Given the description of an element on the screen output the (x, y) to click on. 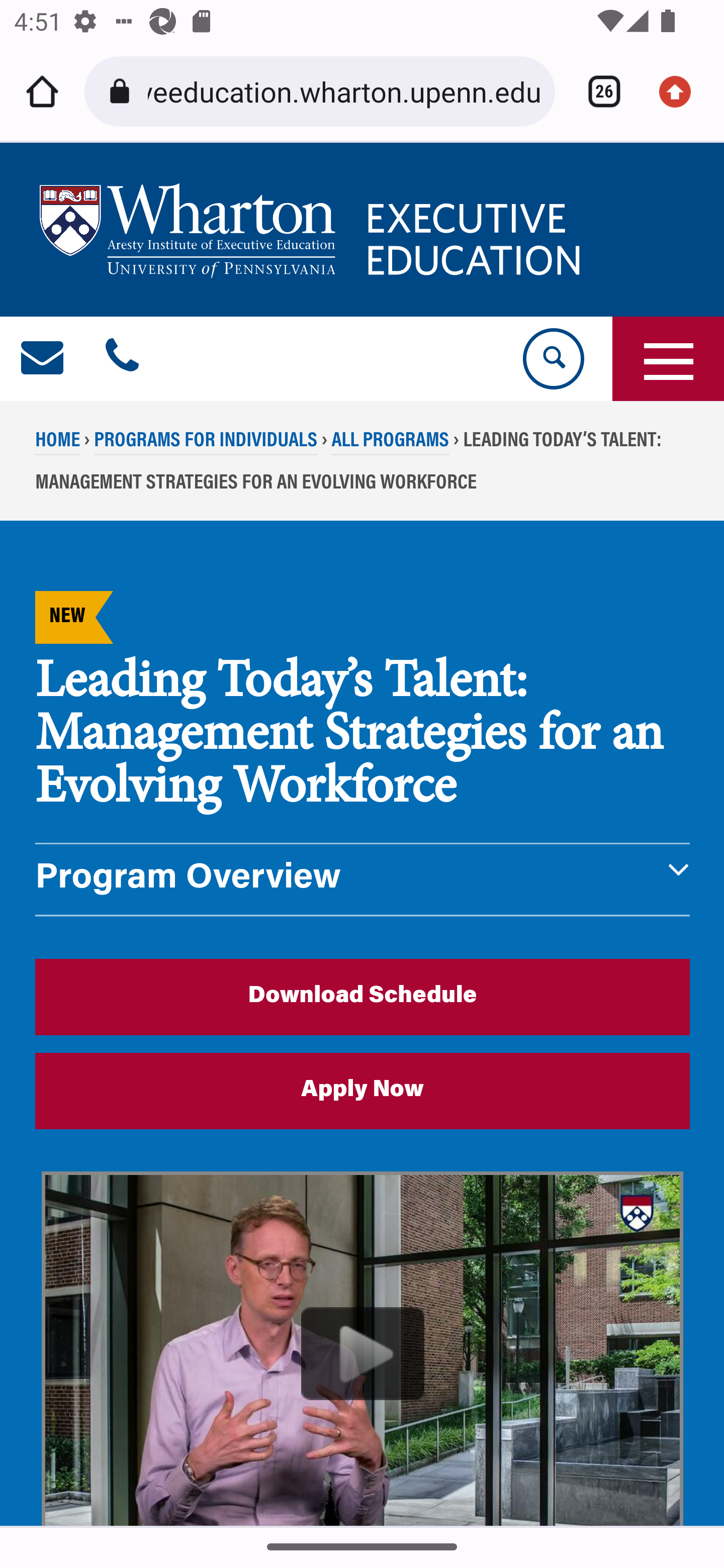
Home (42, 91)
Connection is secure (122, 91)
Switch or close tabs (597, 91)
Update available. More options (681, 91)
Wharton Executive Education (313, 230)
 (43, 358)
 (122, 358)
Mobile menu toggle (668, 358)
 Search Wharton  (552, 358)
HOME (58, 441)
PROGRAMS FOR INDIVIDUALS (205, 441)
ALL PROGRAMS (390, 441)
Program Overview  (362, 879)
Download Schedule (363, 996)
Apply Now (363, 1090)
Play video content LEAD Overview - Matthew Bidwell (363, 1349)
